Given the description of an element on the screen output the (x, y) to click on. 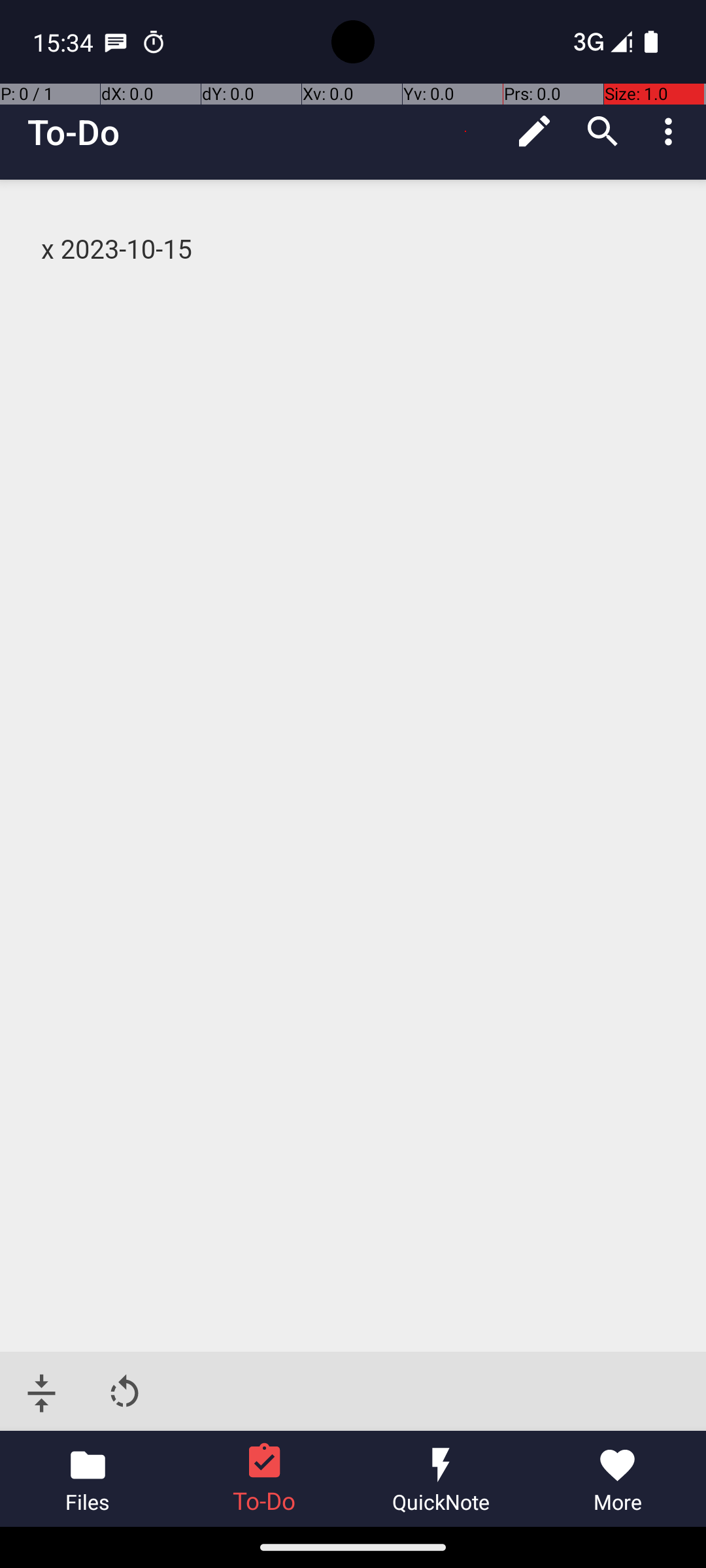
x 2023-10-15  Element type: android.widget.TextView (354, 249)
